Given the description of an element on the screen output the (x, y) to click on. 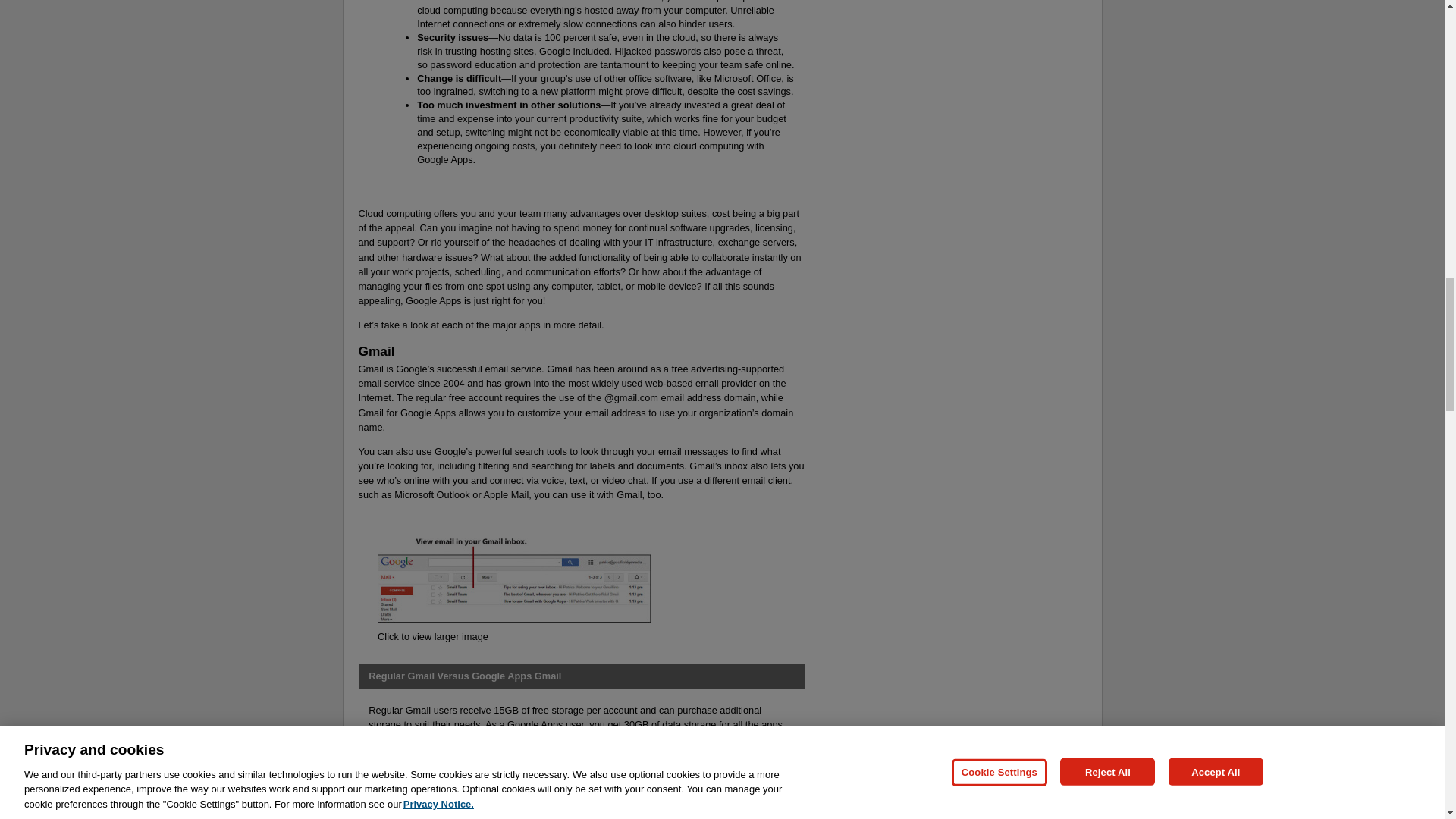
Click to view larger image (432, 636)
